Given the description of an element on the screen output the (x, y) to click on. 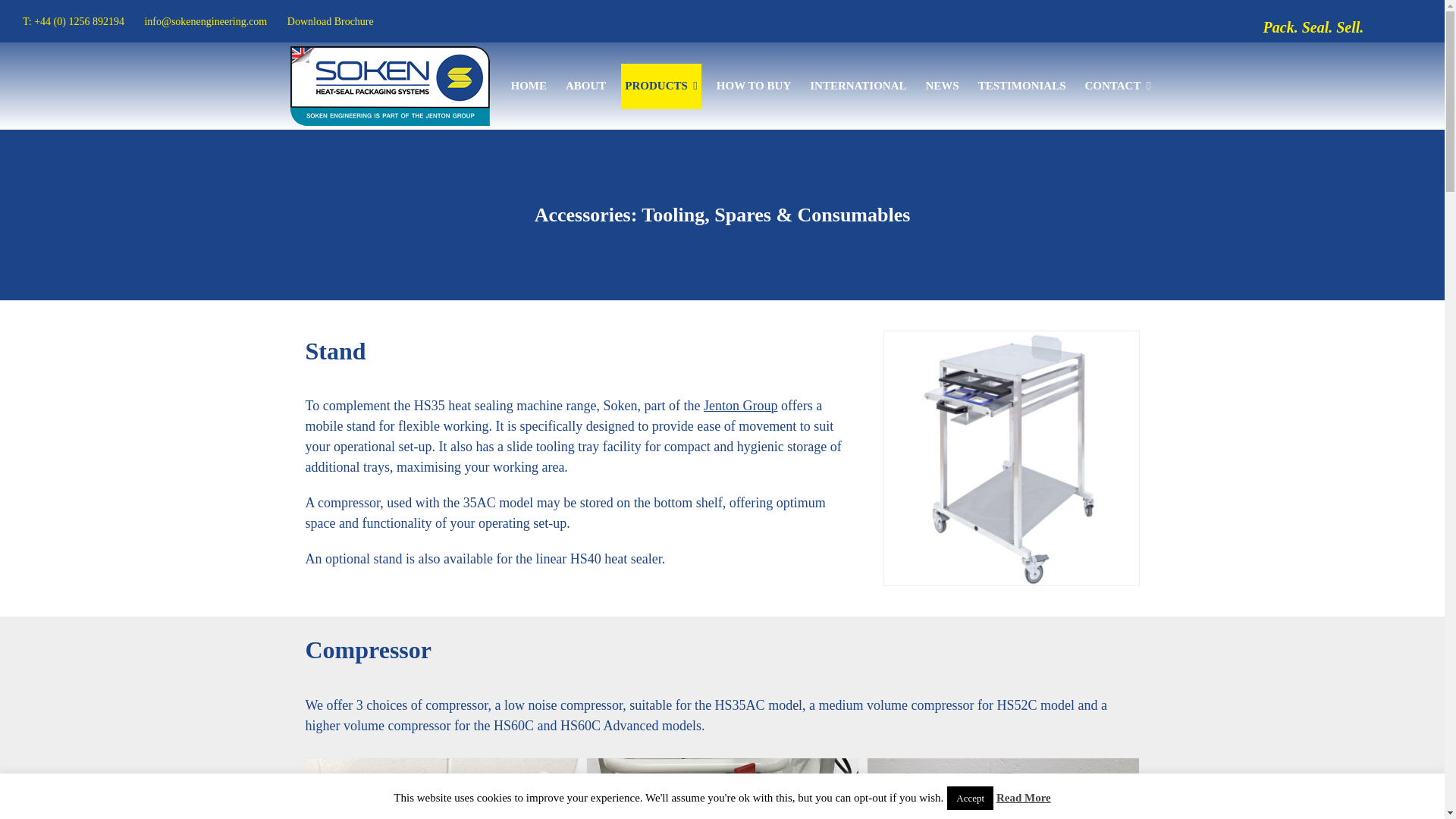
Download Brochure (330, 21)
HOME (528, 85)
ABOUT (586, 85)
HS35A Stand (1010, 458)
PRODUCTS (661, 85)
